Given the description of an element on the screen output the (x, y) to click on. 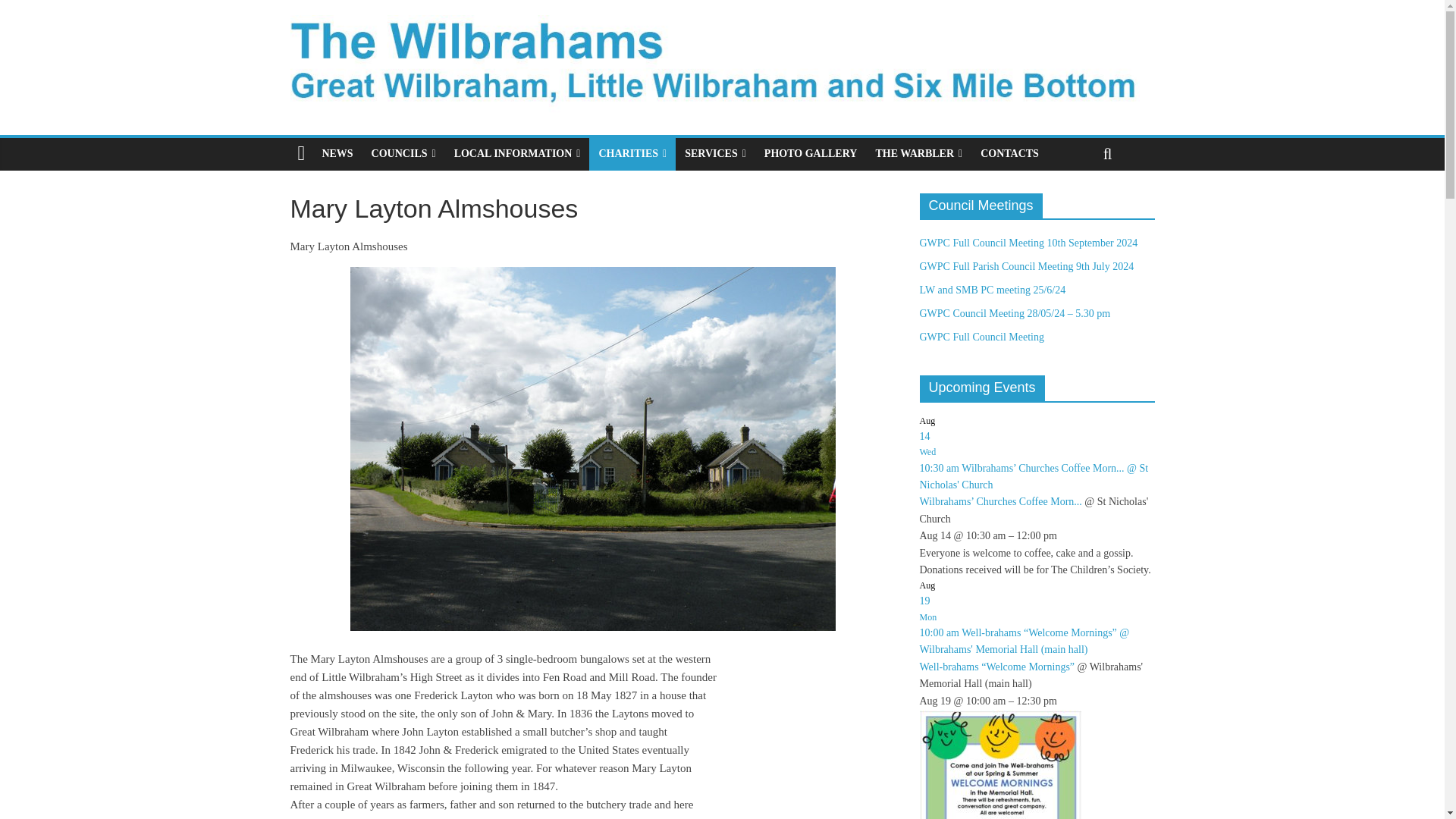
COUNCILS (403, 153)
LOCAL INFORMATION (517, 153)
NEWS (337, 153)
